Given the description of an element on the screen output the (x, y) to click on. 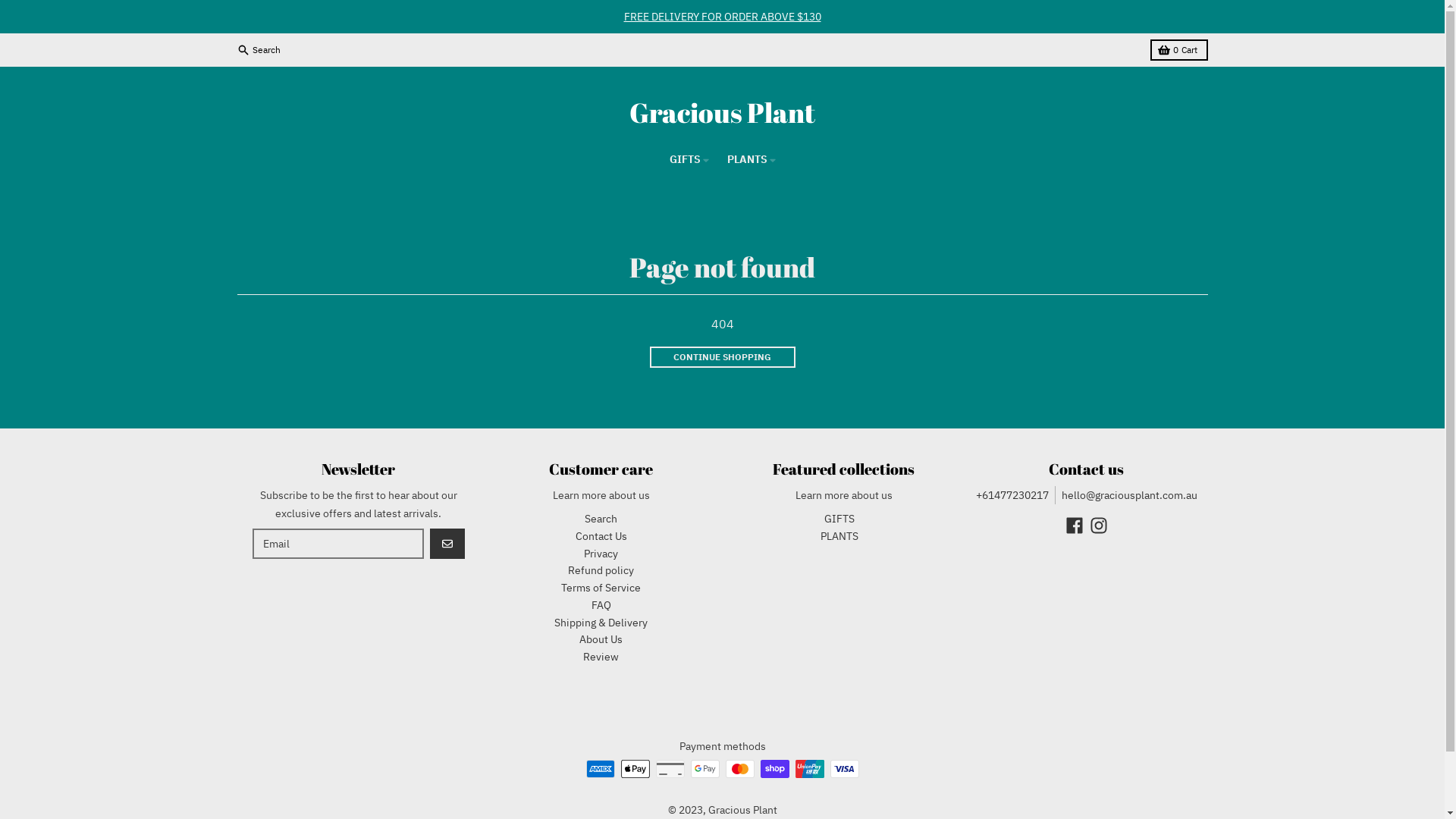
CONTINUE SHOPPING Element type: text (721, 356)
Privacy Element type: text (600, 552)
Review Element type: text (600, 656)
FREE DELIVERY FOR ORDER ABOVE $130 Element type: text (722, 16)
Shipping & Delivery Element type: text (600, 622)
Contact Us Element type: text (600, 535)
About Us Element type: text (600, 639)
Facebook - Gracious Plant Element type: hover (1073, 525)
Terms of Service Element type: text (600, 587)
FAQ Element type: text (601, 604)
Search Element type: text (600, 518)
hello@graciousplant.com.au Element type: text (1129, 495)
+61477230217 Element type: text (1011, 495)
Gracious Plant Element type: text (742, 809)
GO Element type: text (446, 543)
0
Cart Element type: text (1178, 49)
Search Element type: text (259, 49)
Refund policy Element type: text (600, 570)
Gracious Plant Element type: text (722, 112)
Instagram - Gracious Plant Element type: hover (1097, 525)
